Given the description of an element on the screen output the (x, y) to click on. 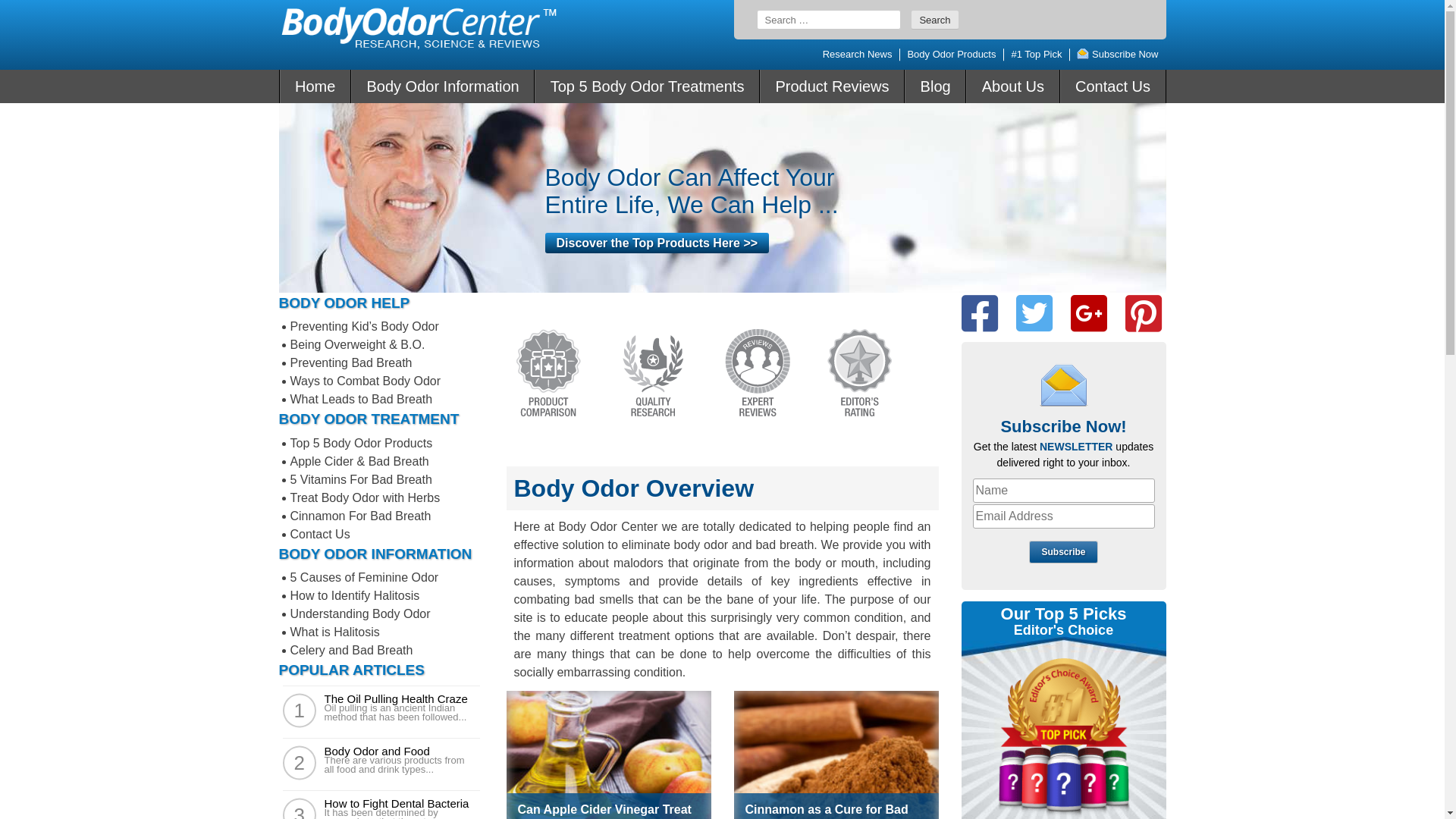
Discover the Top Products Here >> Element type: text (656, 242)
#1 Top Pick Element type: text (1035, 54)
Top 5 Body Odor Treatments Element type: text (646, 86)
Preventing Bad Breath Element type: text (350, 362)
Treat Body Odor with Herbs Element type: text (364, 497)
5 Vitamins For Bad Breath Element type: text (360, 479)
What Leads to Bad Breath Element type: text (360, 398)
What is Halitosis Element type: text (334, 631)
Blog Element type: text (935, 86)
Top 5 Body Odor Products Element type: text (360, 442)
5 Causes of Feminine Odor Element type: text (363, 577)
Product Reviews Element type: text (831, 86)
Celery and Bad Breath Element type: text (350, 649)
Contact Us Element type: text (319, 533)
Subscribe Now Element type: text (1116, 54)
Facebook Element type: text (979, 313)
Home Element type: text (314, 86)
Search Element type: text (934, 19)
Google + Element type: text (1088, 313)
Research News Element type: text (857, 54)
Cinnamon For Bad Breath Element type: text (359, 515)
Being Overweight & B.O. Element type: text (356, 344)
Apple Cider & Bad Breath Element type: text (358, 461)
Body Odor Information Element type: text (442, 86)
Body Odor Products Element type: text (950, 54)
How to Identify Halitosis Element type: text (354, 595)
Ways to Combat Body Odor Element type: text (364, 380)
About Us Element type: text (1012, 86)
Twitter Element type: text (1034, 313)
Contact Us Element type: text (1113, 86)
Subscribe Element type: text (1063, 551)
Pinterest Element type: text (1143, 313)
Understanding Body Odor Element type: text (359, 613)
